Given the description of an element on the screen output the (x, y) to click on. 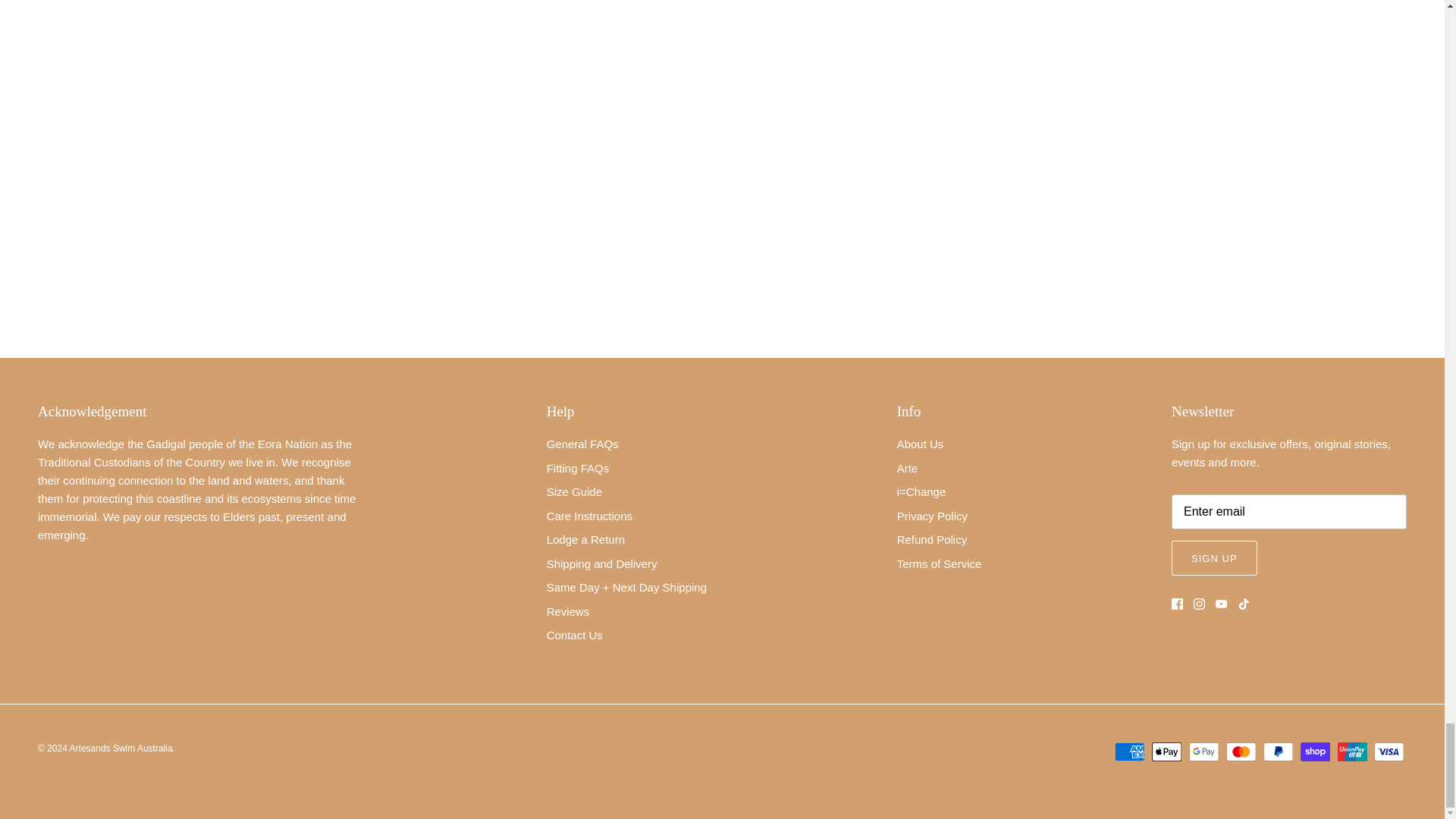
Visa (1388, 751)
Apple Pay (1166, 751)
Shop Pay (1315, 751)
Google Pay (1203, 751)
Mastercard (1240, 751)
Instagram (1199, 603)
American Express (1129, 751)
Facebook (1177, 603)
Youtube (1221, 603)
PayPal (1277, 751)
Union Pay (1352, 751)
